Given the description of an element on the screen output the (x, y) to click on. 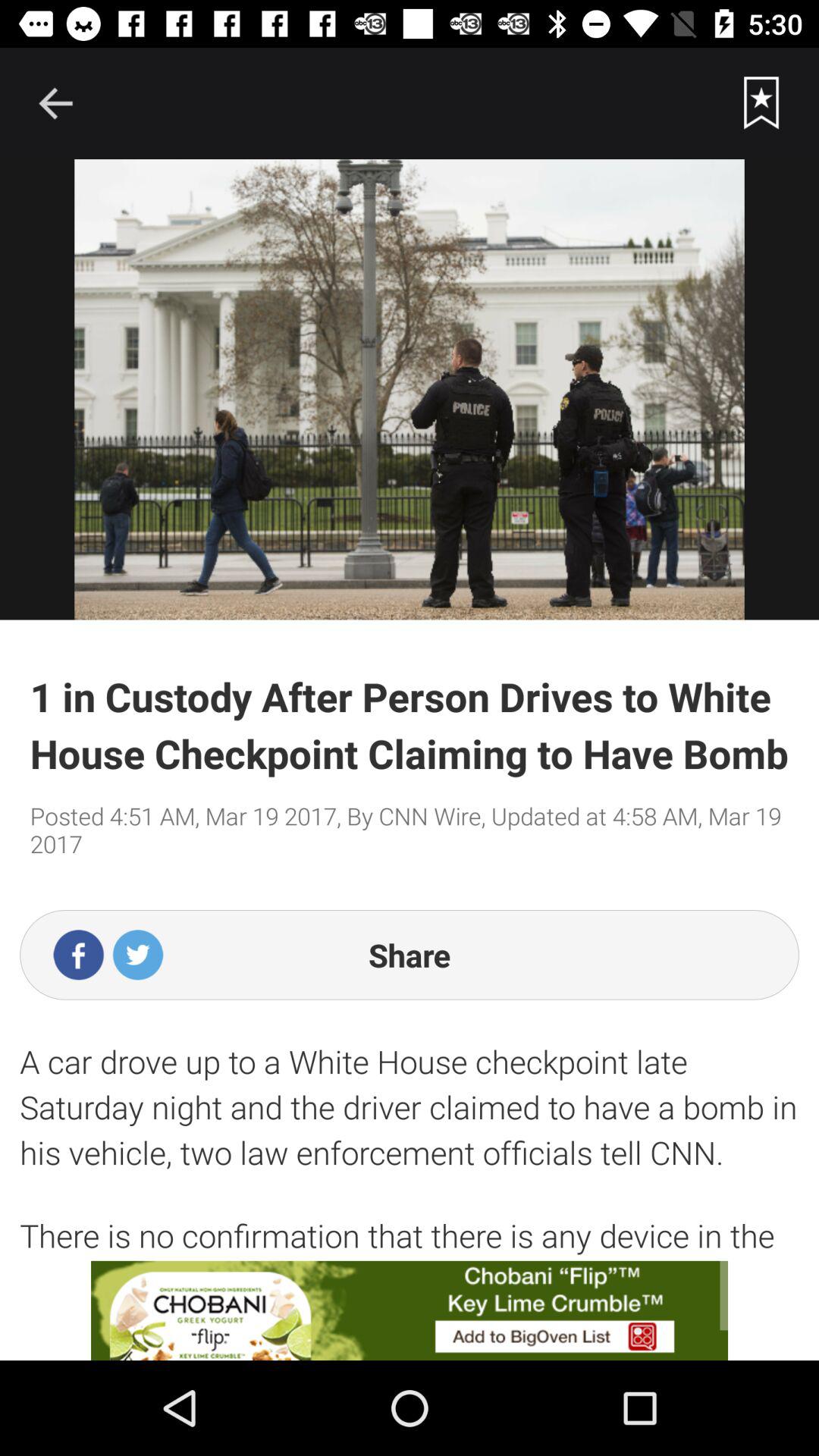
save the current story (761, 102)
